Given the description of an element on the screen output the (x, y) to click on. 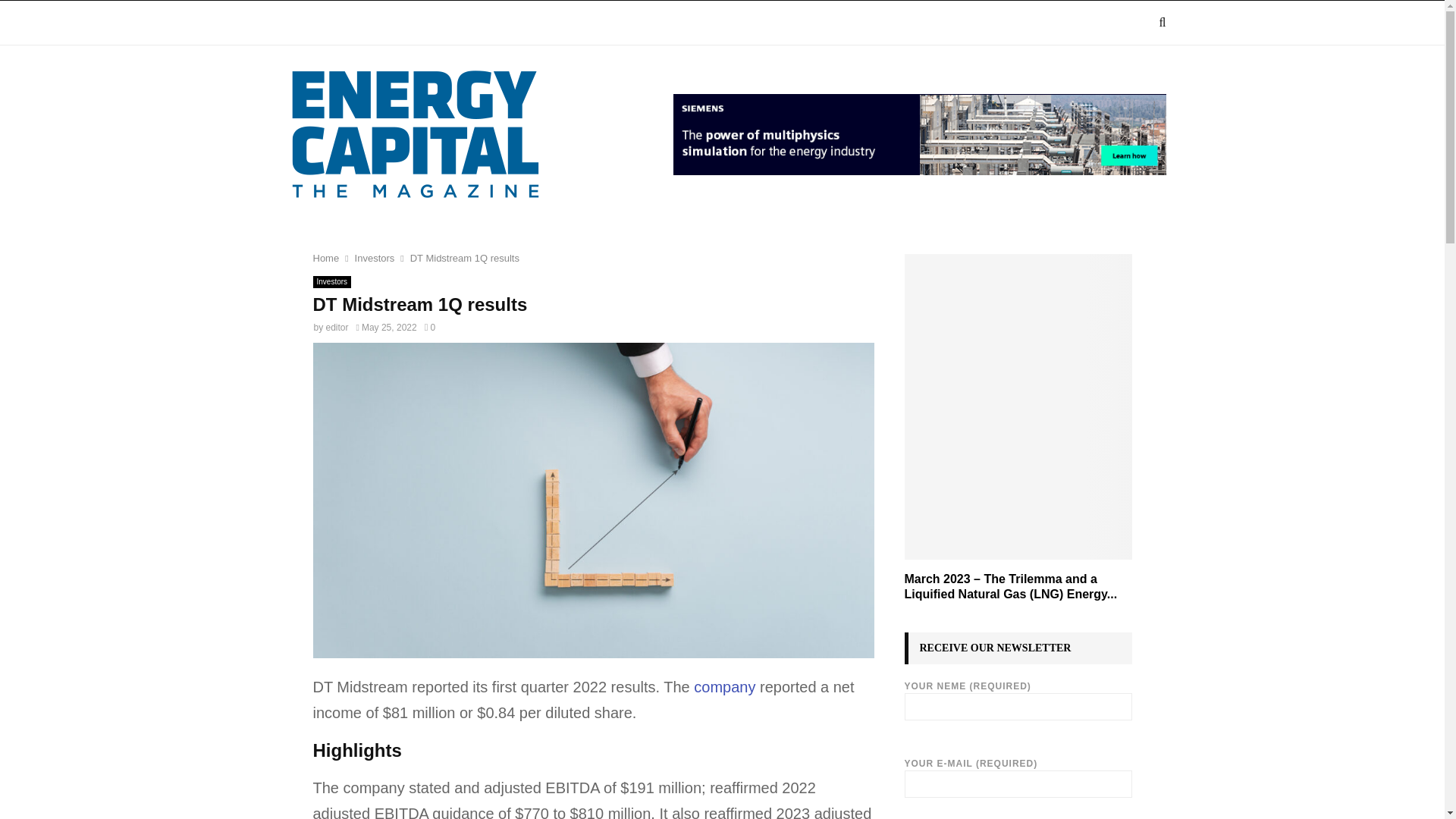
SECTORS (474, 22)
HOME (308, 22)
MAGAZINE (383, 22)
